Given the description of an element on the screen output the (x, y) to click on. 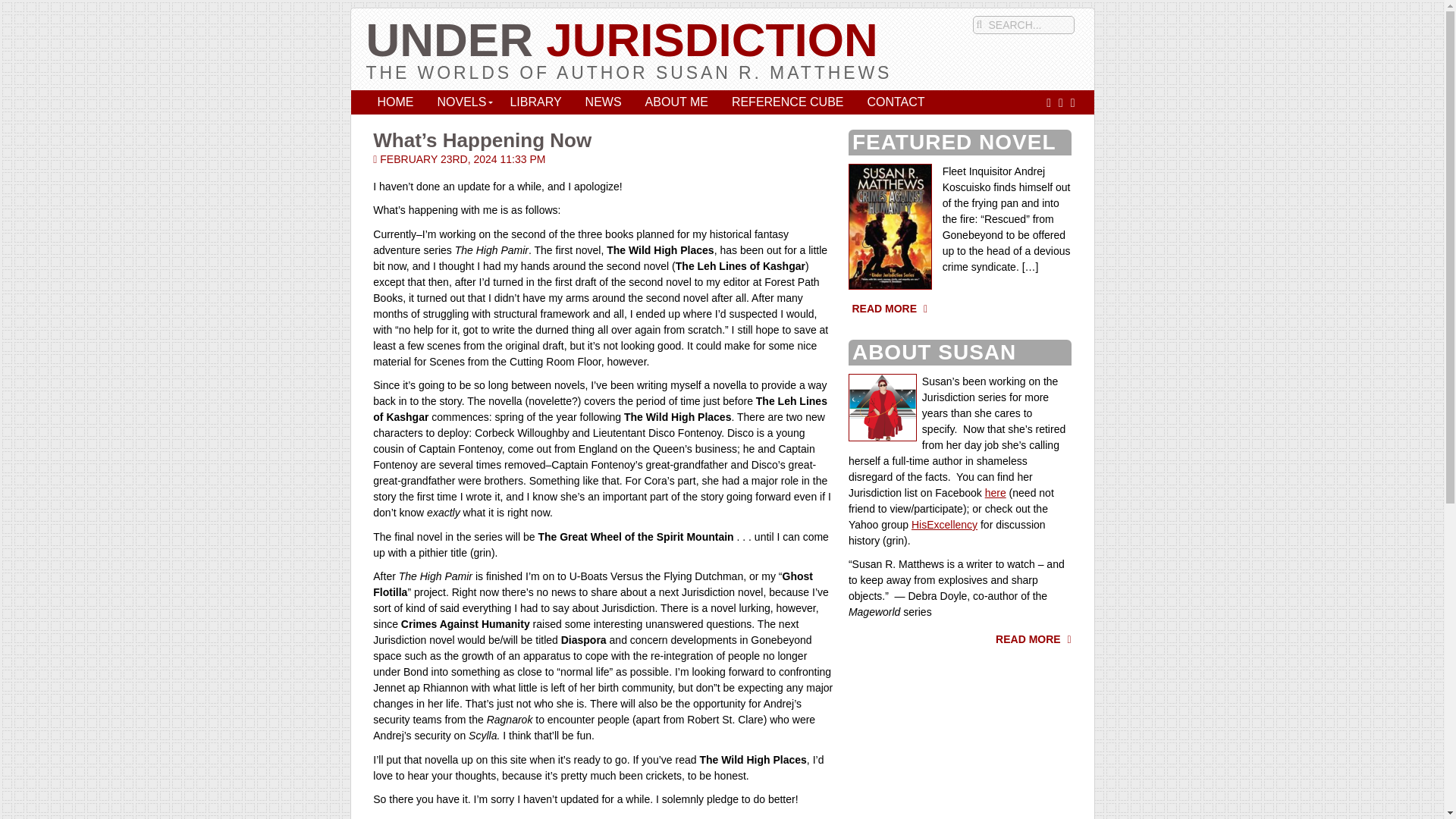
REFERENCE CUBE (787, 103)
HOME (395, 103)
UNDER JURISDICTION (621, 39)
NEWS (603, 103)
LIBRARY (534, 103)
NOVELS (461, 103)
READ MORE (1033, 639)
CONTACT (895, 103)
ABOUT ME (676, 103)
here (995, 492)
